Given the description of an element on the screen output the (x, y) to click on. 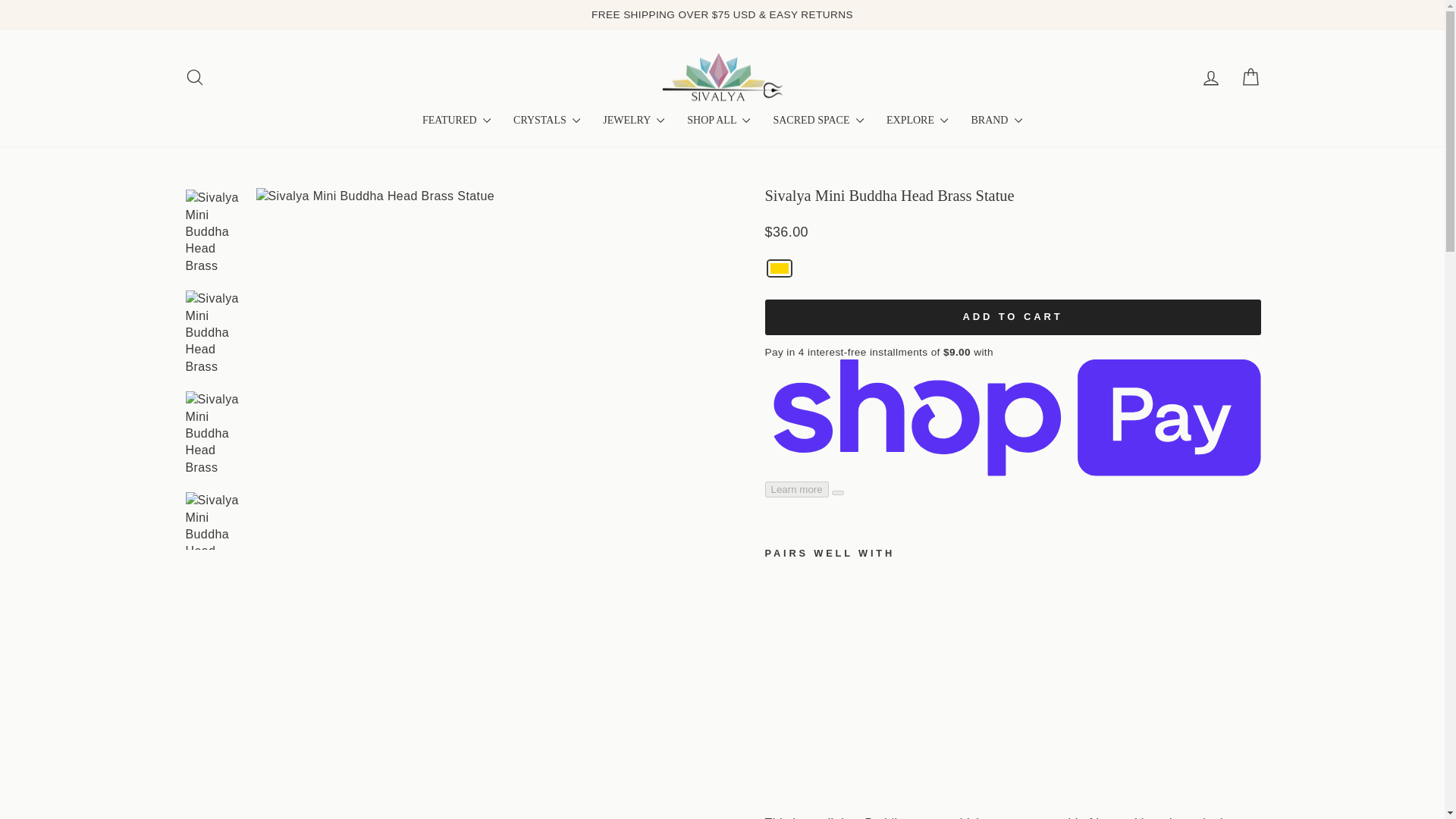
icon-search (194, 76)
account (1210, 77)
